Given the description of an element on the screen output the (x, y) to click on. 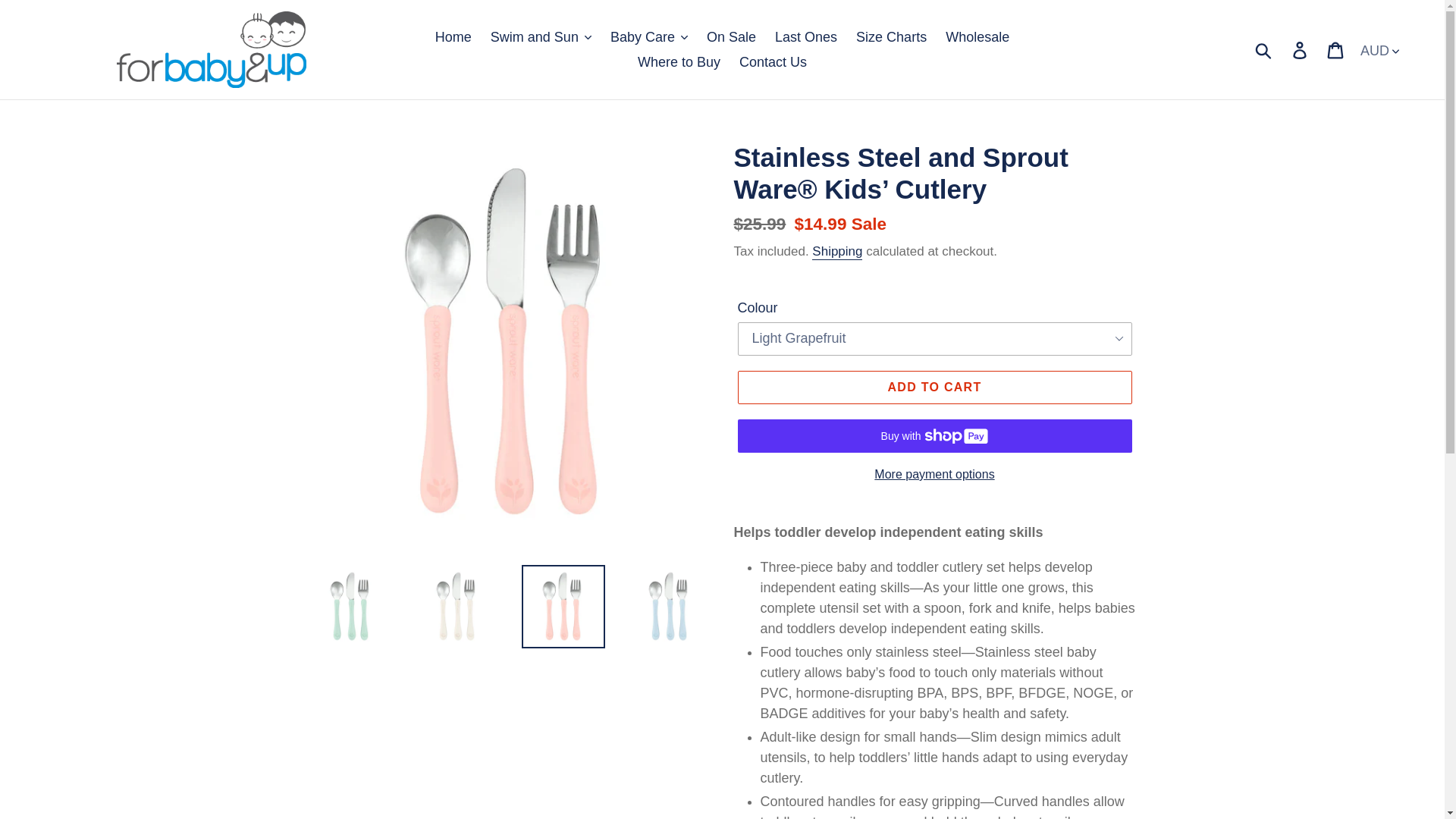
Last Ones (805, 36)
Size Charts (891, 36)
On Sale (730, 36)
Home (453, 36)
Where to Buy (679, 62)
Wholesale (976, 36)
